Given the description of an element on the screen output the (x, y) to click on. 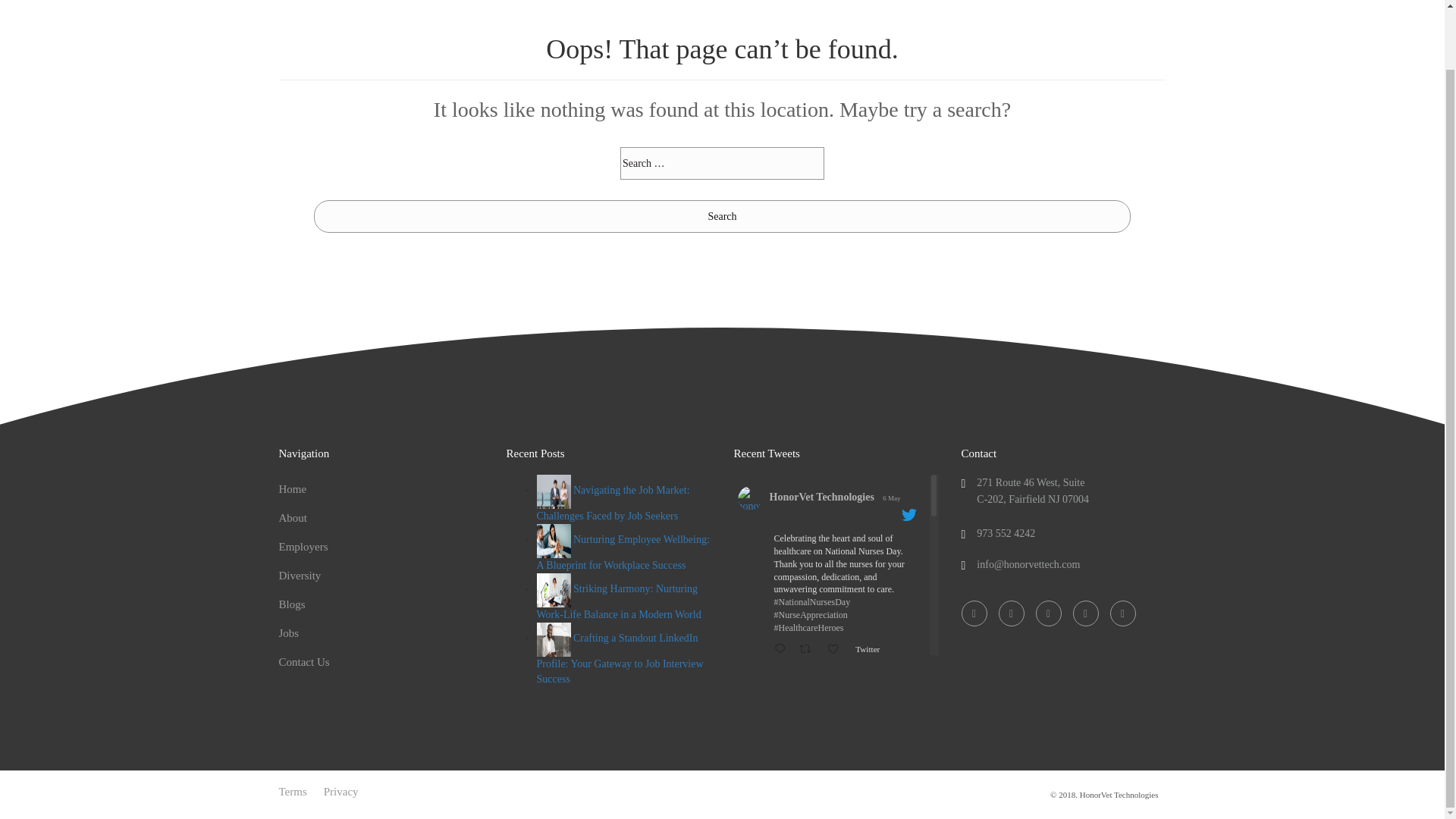
Navigating the Job Market: Challenges Faced by Job Seekers (613, 502)
HonorVet Technologies (820, 496)
Fecebook (973, 613)
instagram (1084, 613)
Diversity (300, 575)
6 May (890, 498)
Jobs (289, 633)
Blogs (292, 604)
Pinterest (1122, 613)
Contact Us (304, 662)
Employers (304, 546)
Home (293, 489)
